Given the description of an element on the screen output the (x, y) to click on. 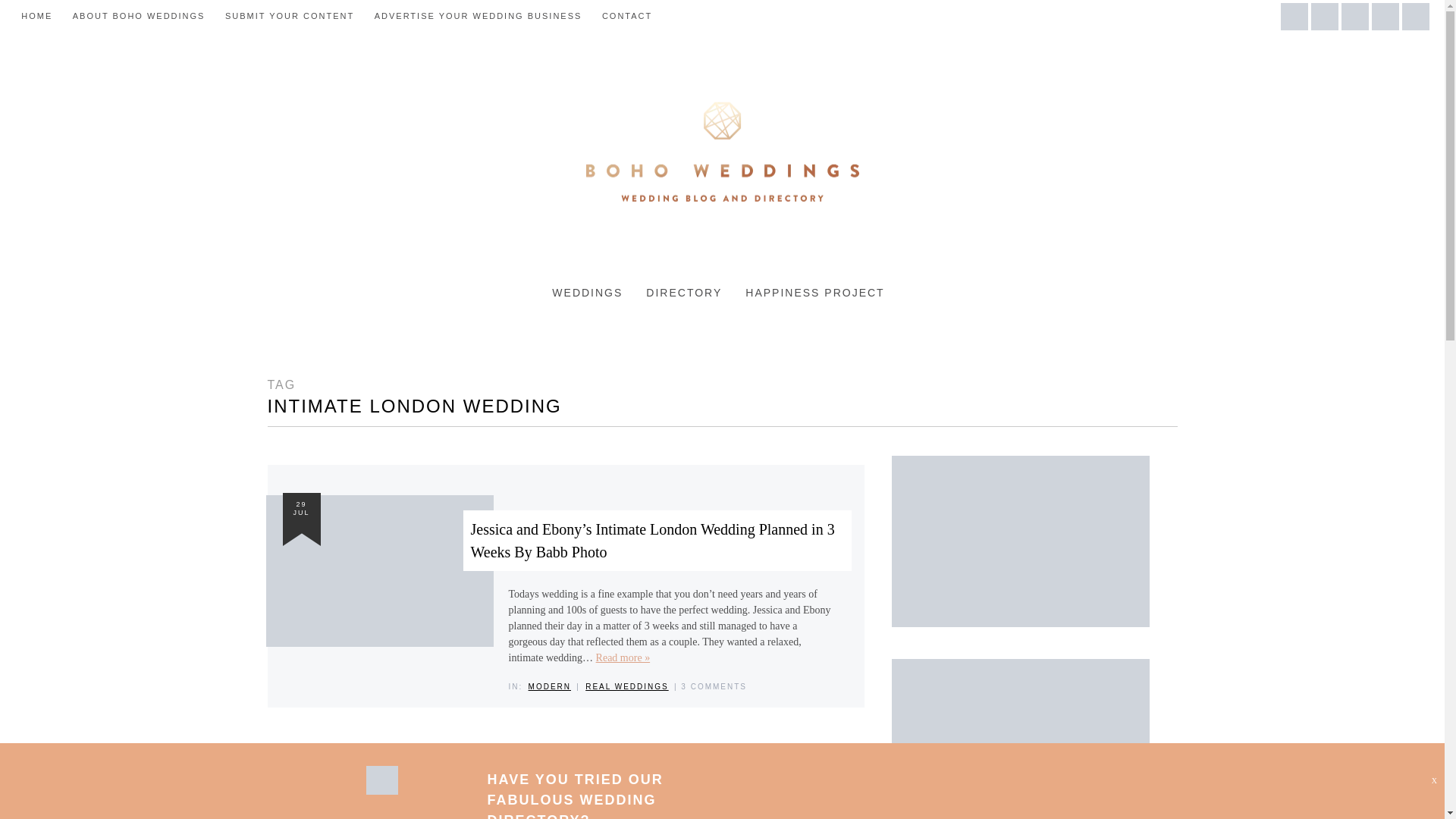
DIRECTORY (684, 292)
SUBMIT YOUR CONTENT (290, 16)
HAPPINESS PROJECT (815, 292)
Have you tried our fabulous wedding directory? (574, 795)
ABOUT BOHO WEDDINGS (138, 16)
Why not visit our Supplier Directory (1020, 739)
CONTACT (627, 16)
ADVERTISE YOUR WEDDING BUSINESS (478, 16)
Have you tried our fabulous wedding directory? (381, 789)
HOME (36, 16)
